Given the description of an element on the screen output the (x, y) to click on. 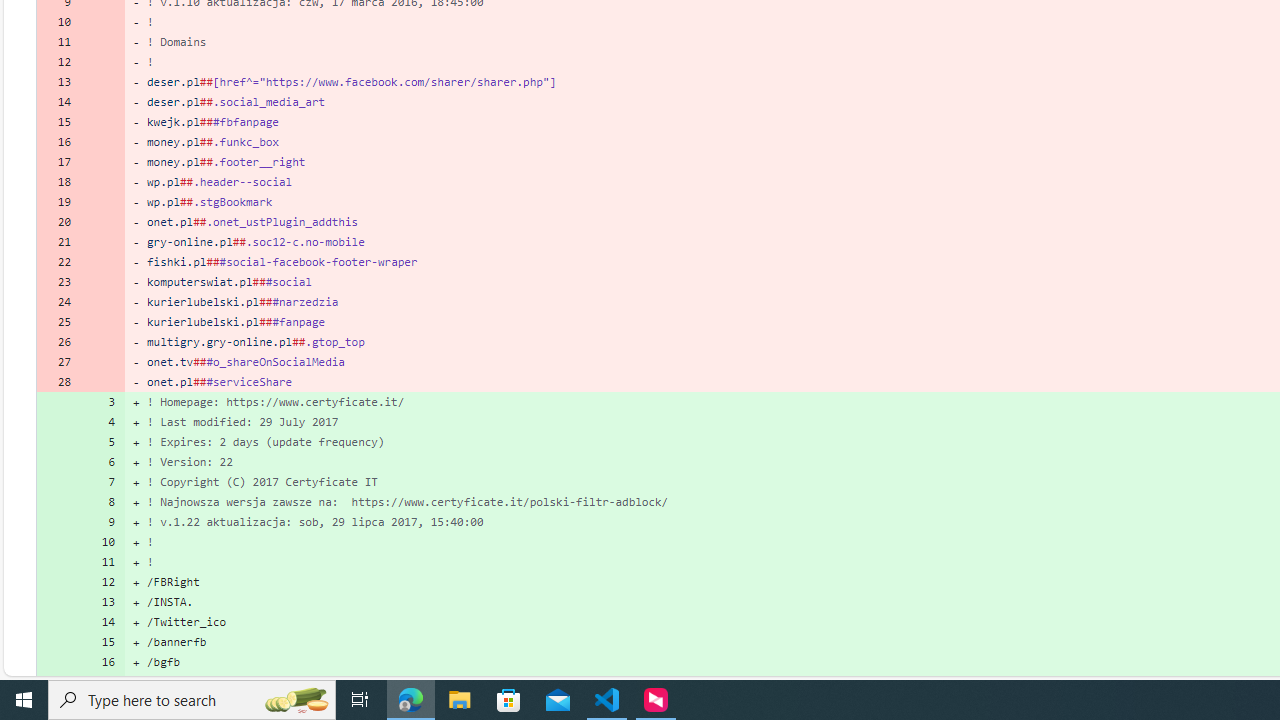
17 (102, 681)
8 (102, 501)
6 (102, 462)
19 (58, 201)
25 (58, 321)
20 (58, 221)
9 (102, 521)
3 (102, 401)
16 (102, 661)
13 (102, 601)
18 (58, 182)
26 (58, 341)
24 (58, 301)
